Given the description of an element on the screen output the (x, y) to click on. 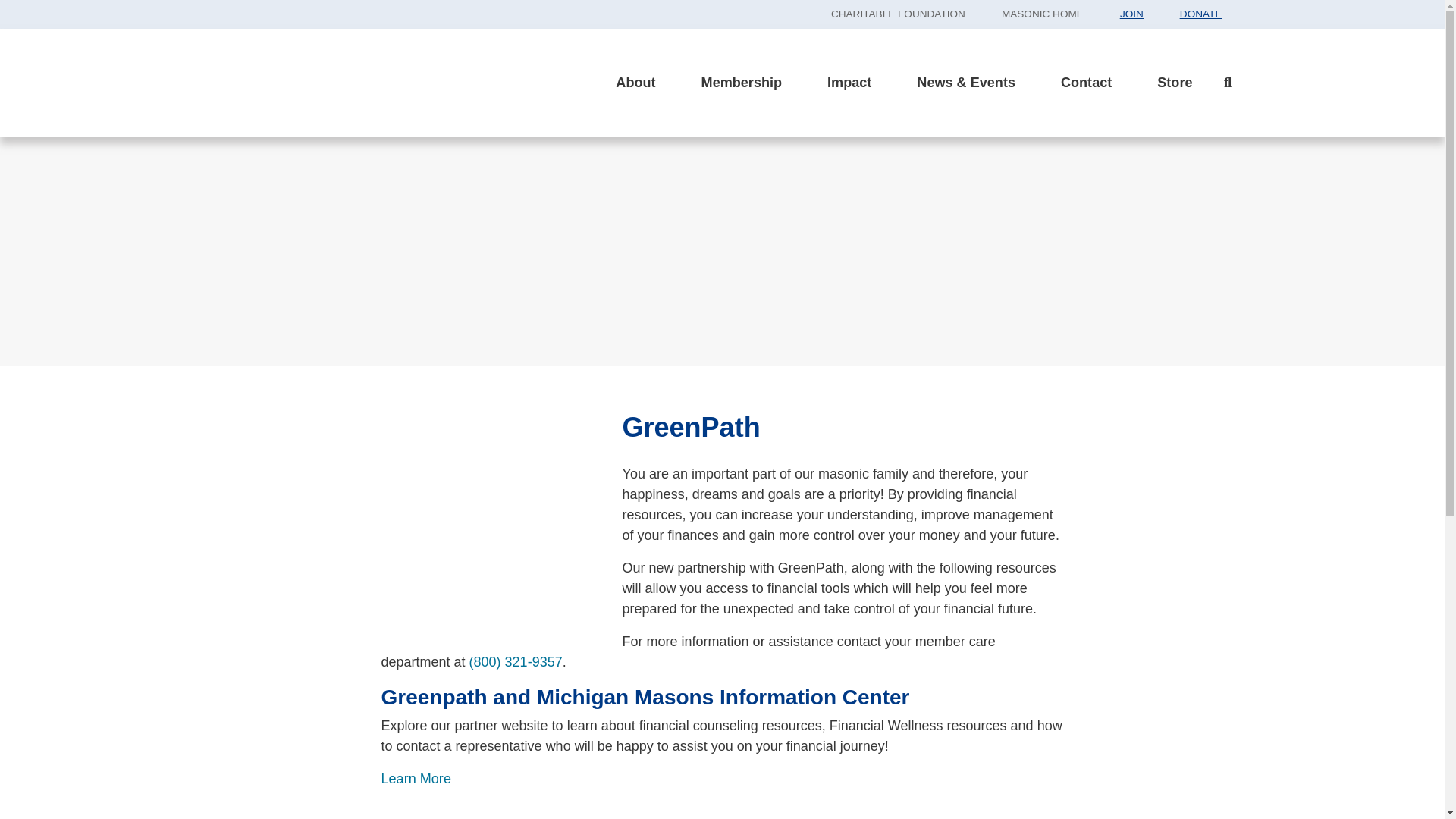
JOIN (1131, 14)
About (635, 83)
Membership (741, 83)
CHARITABLE FOUNDATION (898, 14)
Impact (849, 83)
Store (1174, 83)
Contact (1086, 83)
MASONIC HOME (1043, 14)
DONATE (1200, 14)
